Given the description of an element on the screen output the (x, y) to click on. 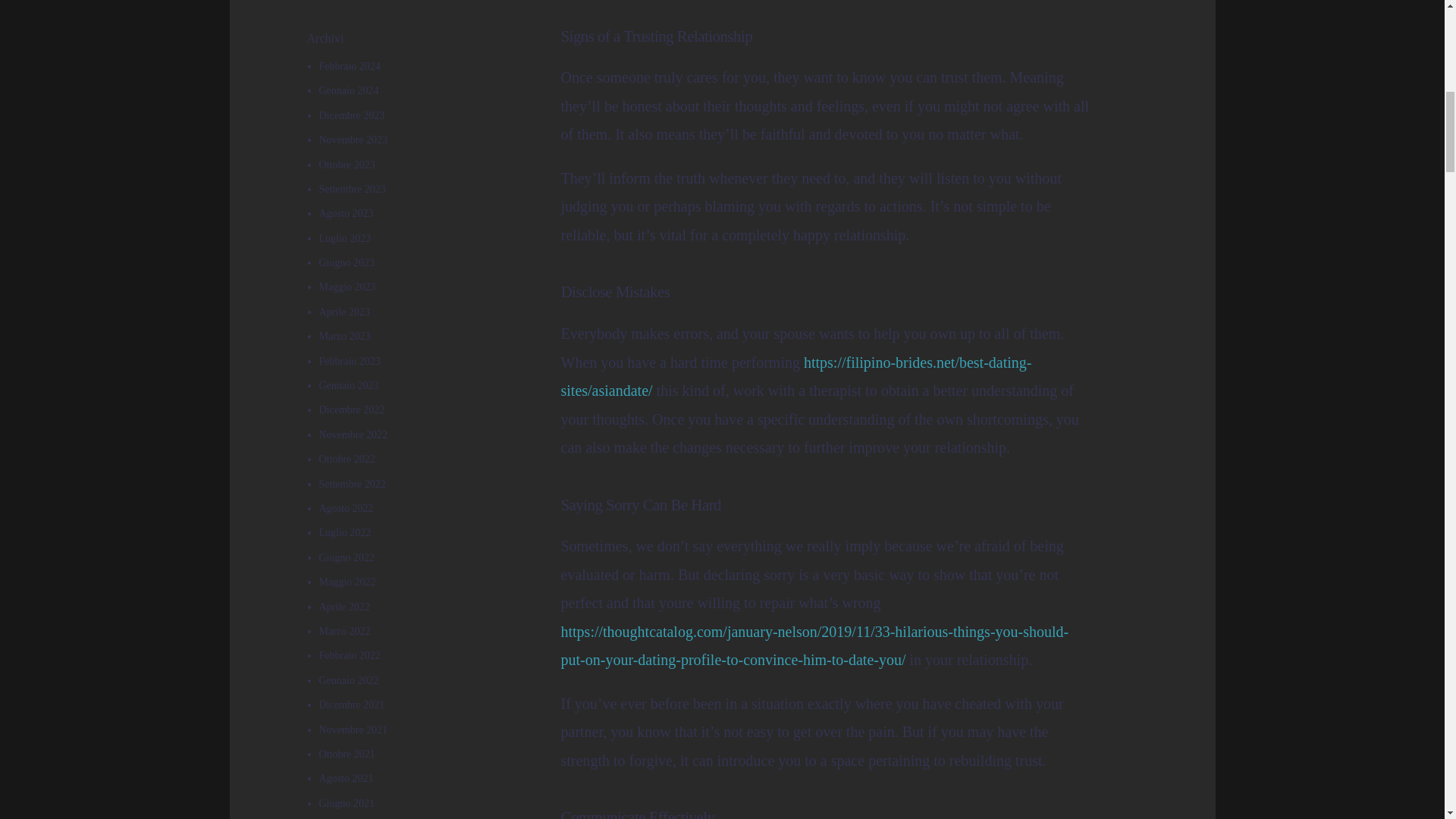
Gennaio 2024 (348, 90)
Agosto 2023 (345, 213)
Settembre 2022 (351, 483)
Novembre 2022 (352, 434)
Ottobre 2023 (346, 164)
Settembre 2023 (351, 188)
Aprile 2023 (343, 311)
Luglio 2022 (344, 532)
Febbraio 2024 (349, 66)
Gennaio 2023 (348, 385)
